Given the description of an element on the screen output the (x, y) to click on. 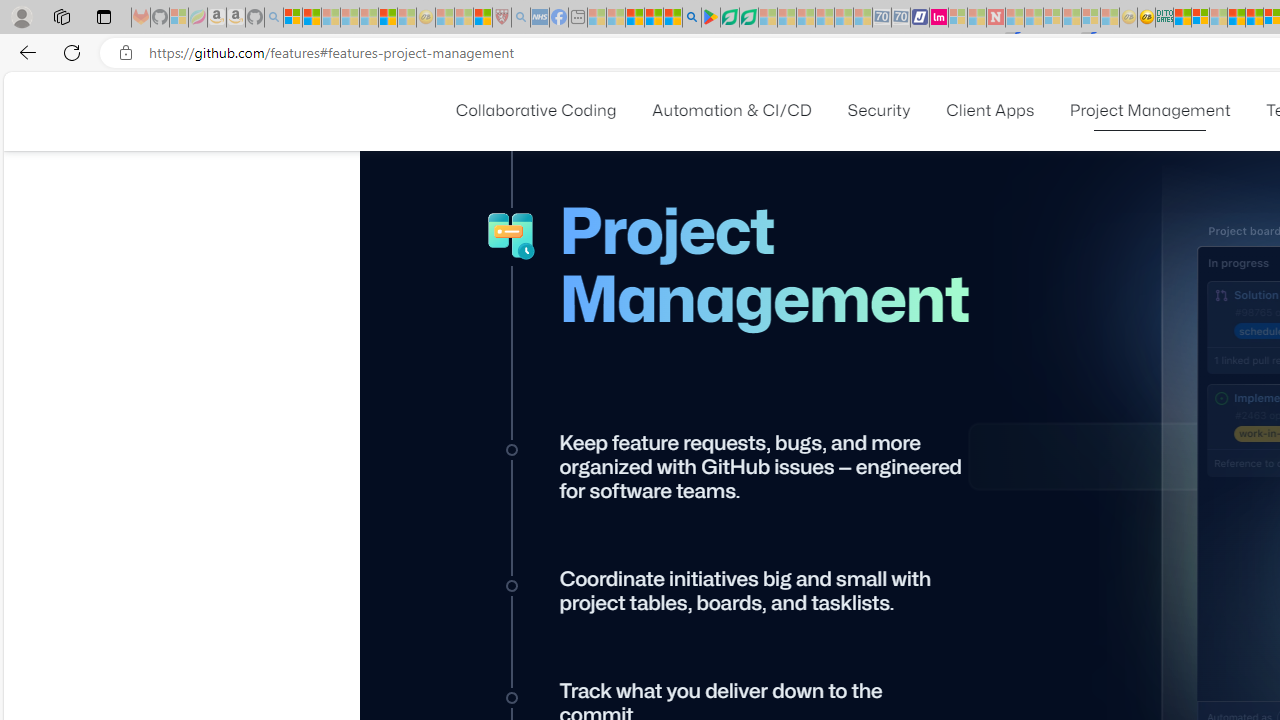
Microsoft Start (634, 17)
Recipes - MSN - Sleeping (445, 17)
Microsoft Word - consumer-privacy address update 2.2021 (748, 17)
Jobs - lastminute.com Investor Portal (939, 17)
NCL Adult Asthma Inhaler Choice Guideline - Sleeping (540, 17)
Refresh (72, 52)
google - Search (692, 17)
Pets - MSN (654, 17)
Local - MSN (482, 17)
Workspaces (61, 16)
Cheap Hotels - Save70.com - Sleeping (901, 17)
